Given the description of an element on the screen output the (x, y) to click on. 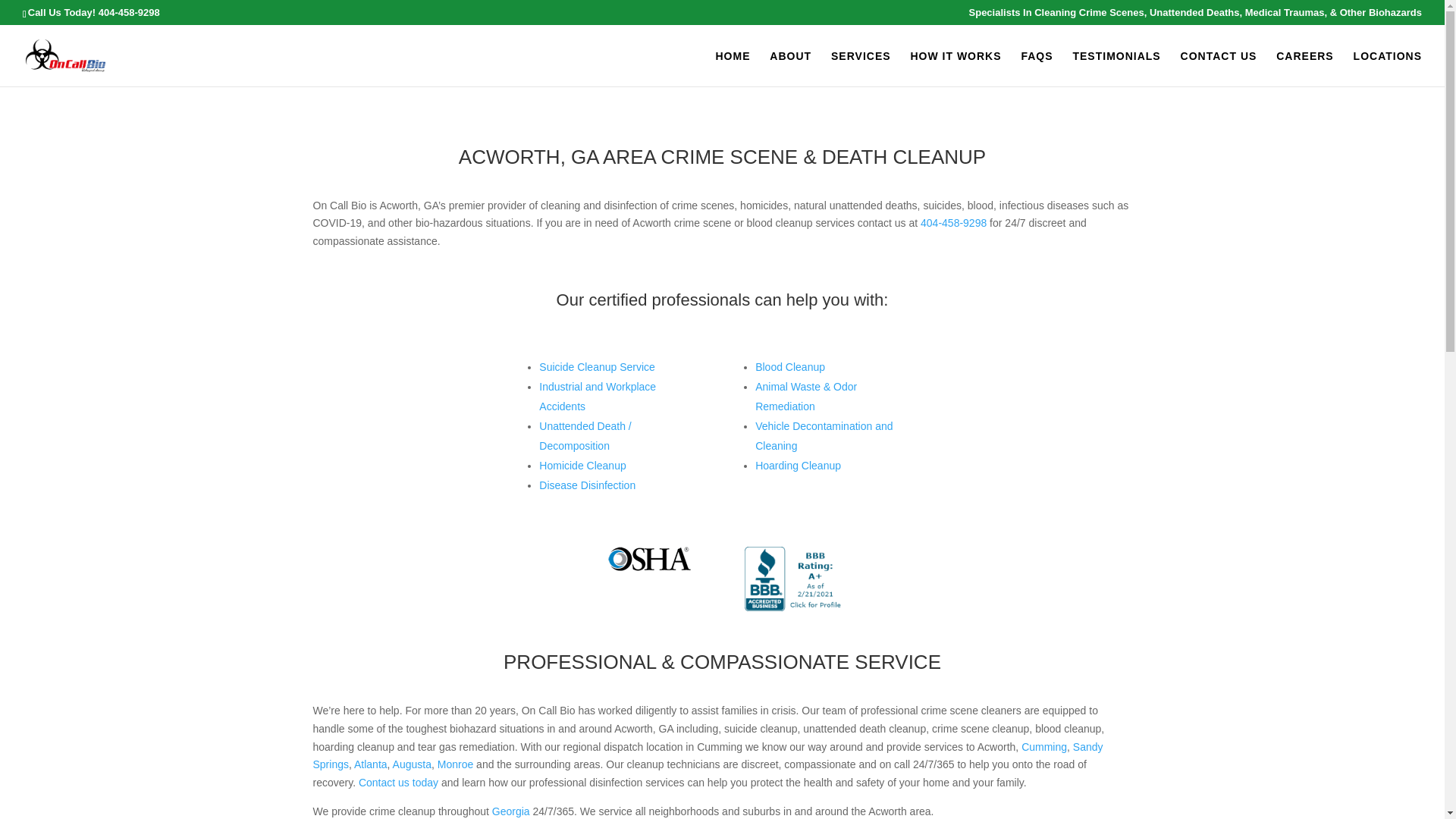
SERVICES (861, 67)
TESTIMONIALS (1115, 67)
HOME (731, 67)
FAQS (1036, 67)
LOCATIONS (1388, 67)
404-458-9298 (129, 12)
blue-seal-153-100-bbb-88275948 (793, 578)
CONTACT US (1218, 67)
ABOUT (790, 67)
HOW IT WORKS (955, 67)
osha (649, 559)
CAREERS (1304, 67)
